Given the description of an element on the screen output the (x, y) to click on. 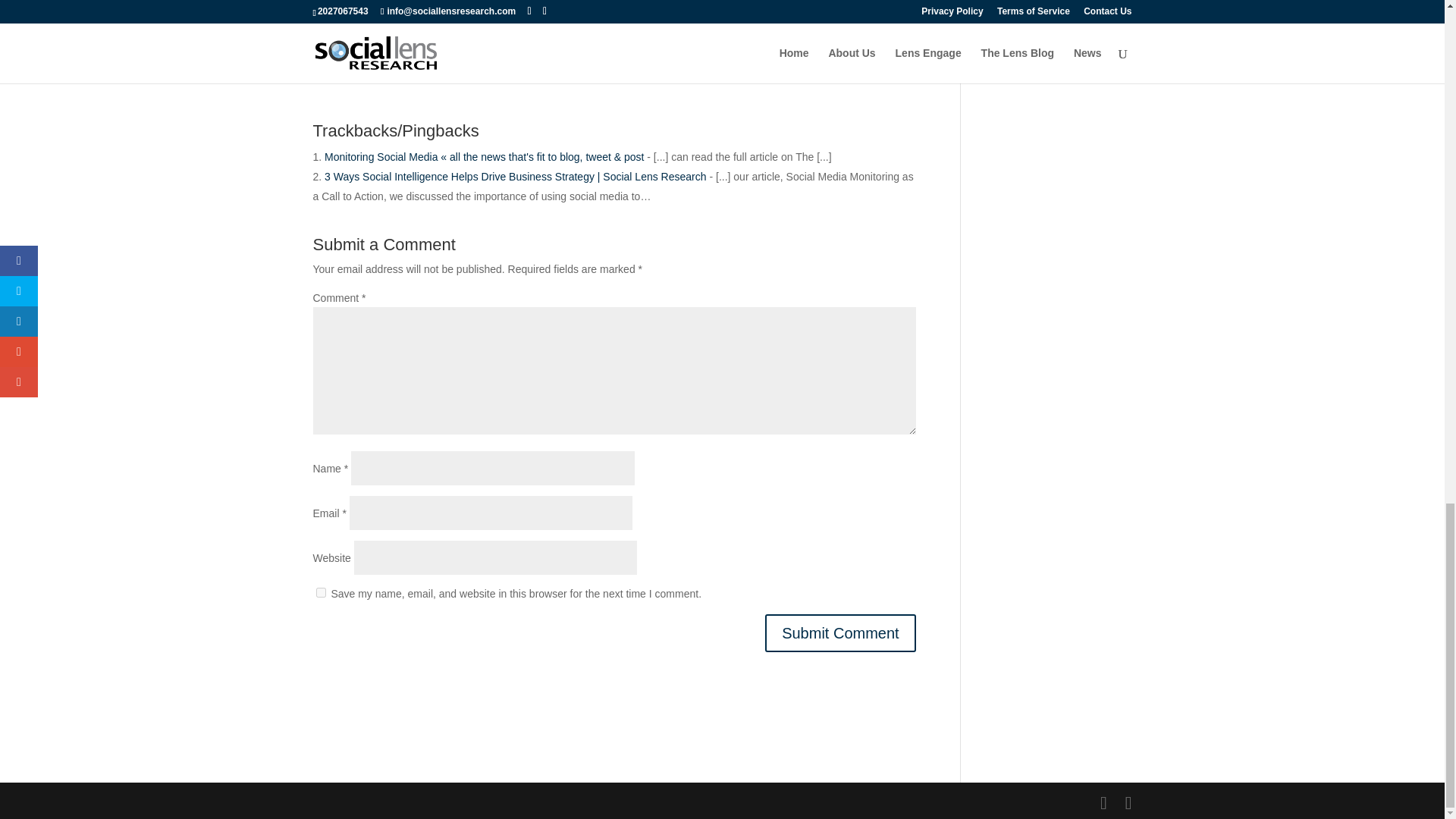
caterpiya (395, 55)
yes (319, 592)
Submit Comment (840, 632)
Submit Comment (840, 632)
photo pin (458, 55)
